Given the description of an element on the screen output the (x, y) to click on. 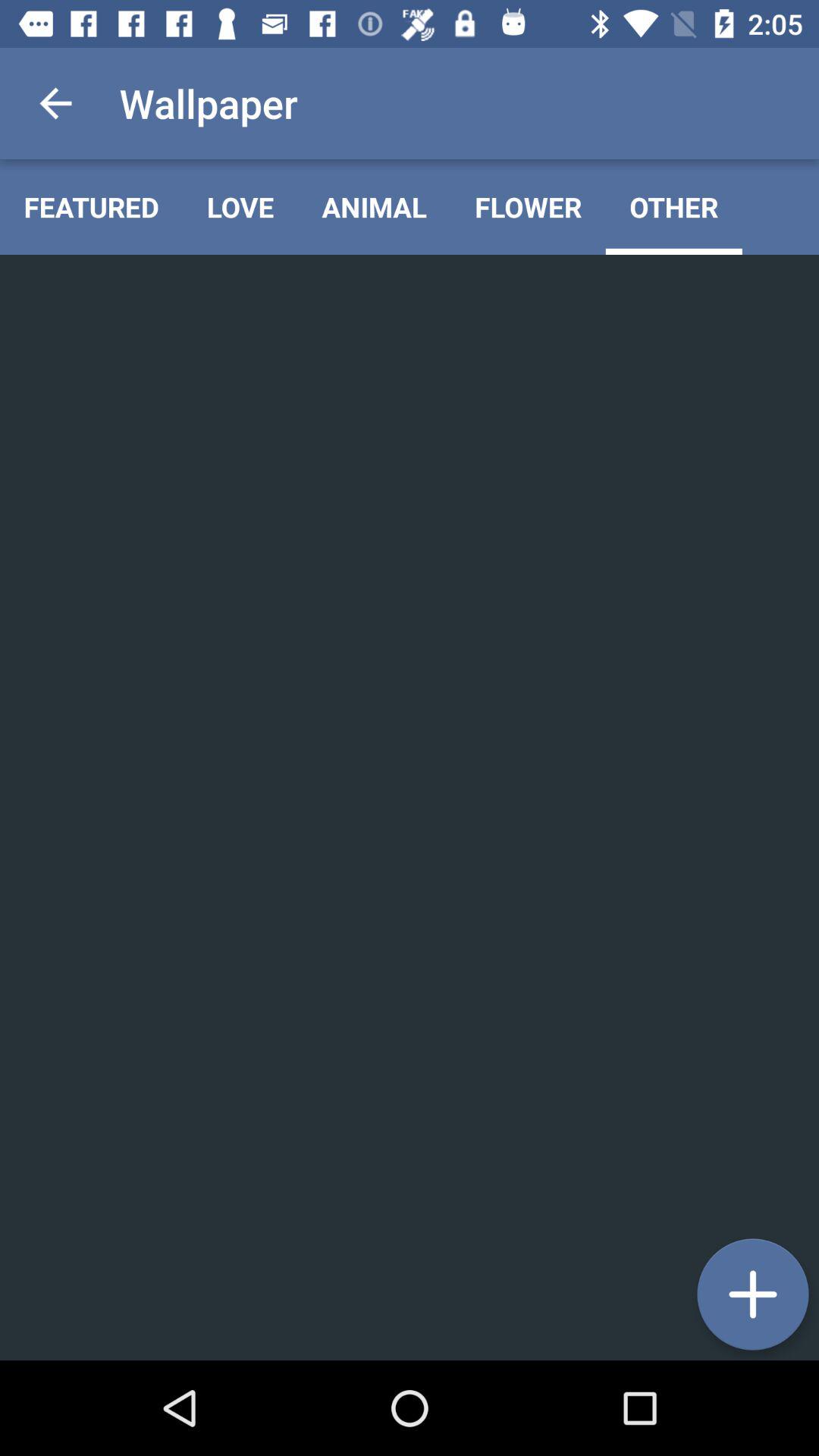
choose the item to the left of the animal (240, 206)
